Given the description of an element on the screen output the (x, y) to click on. 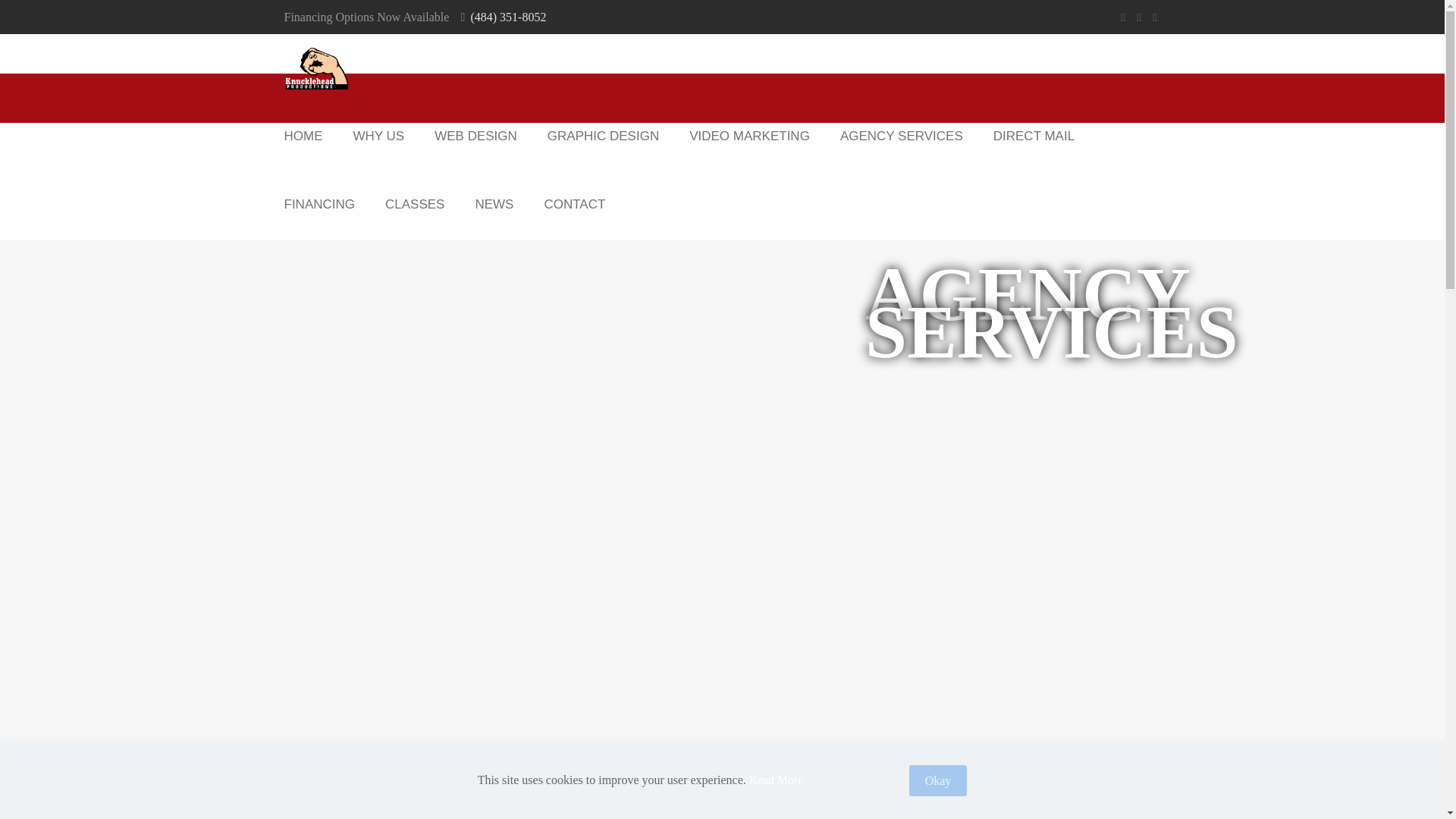
WEB DESIGN (475, 136)
FINANCING (318, 204)
CLASSES (414, 204)
GRAPHIC DESIGN (603, 136)
Facebook (1123, 17)
VIDEO MARKETING (749, 136)
CONTACT (574, 204)
AGENCY SERVICES (901, 136)
DIRECT MAIL (1033, 136)
NEWS (494, 204)
Knucklehead Productions (316, 68)
HOME (302, 136)
WHY US (378, 136)
LinkedIn (1155, 17)
